Given the description of an element on the screen output the (x, y) to click on. 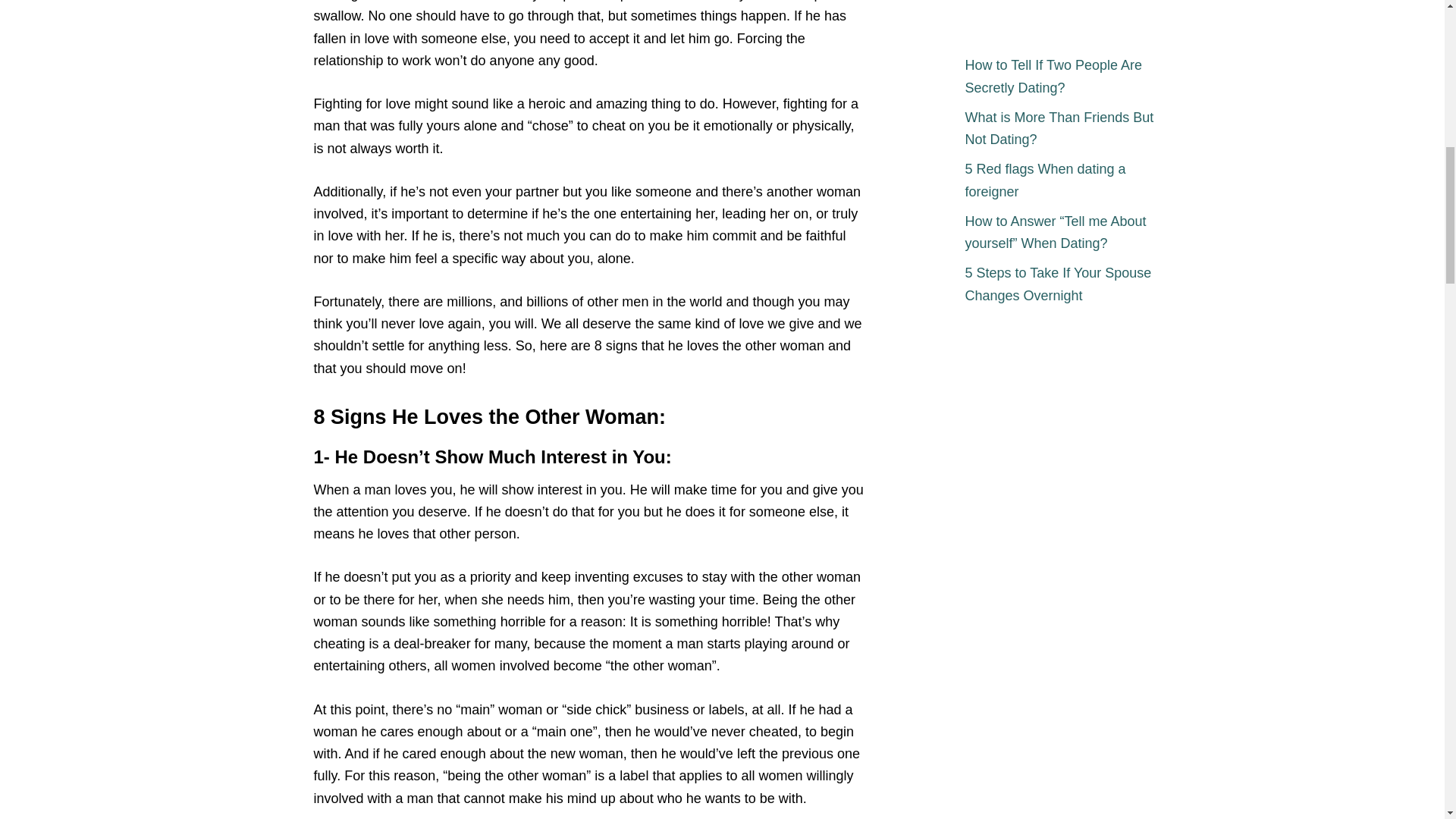
What is More Than Friends But Not Dating? (1062, 129)
How to Tell If Two People Are Secretly Dating? (1062, 76)
5 Red flags When dating a foreigner (1062, 180)
5 Steps to Take If Your Spouse Changes Overnight (1062, 284)
